Given the description of an element on the screen output the (x, y) to click on. 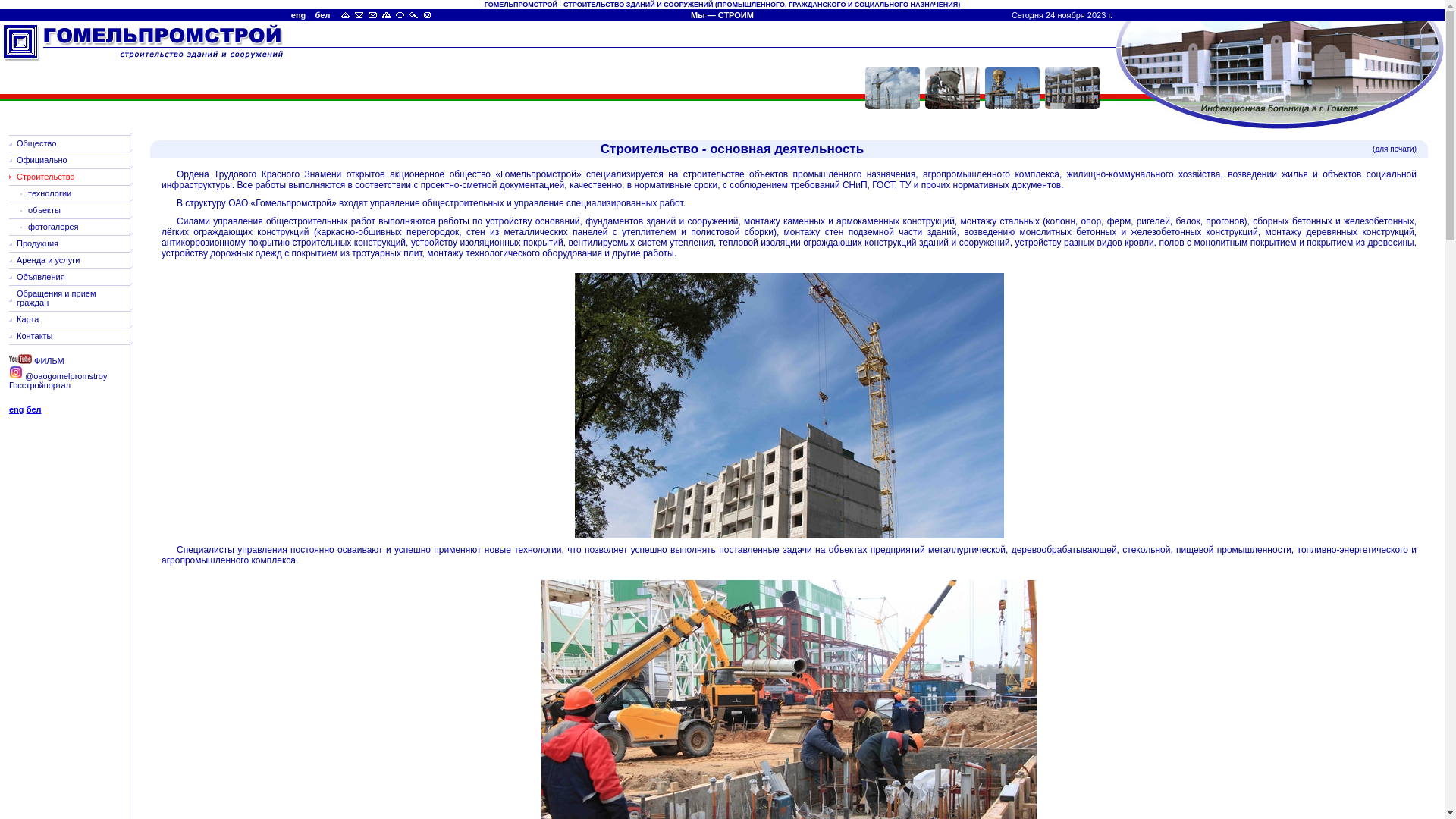
eng Element type: text (16, 409)
@oaogomelpromstroy Element type: text (57, 375)
eng    Element type: text (302, 14)
